Given the description of an element on the screen output the (x, y) to click on. 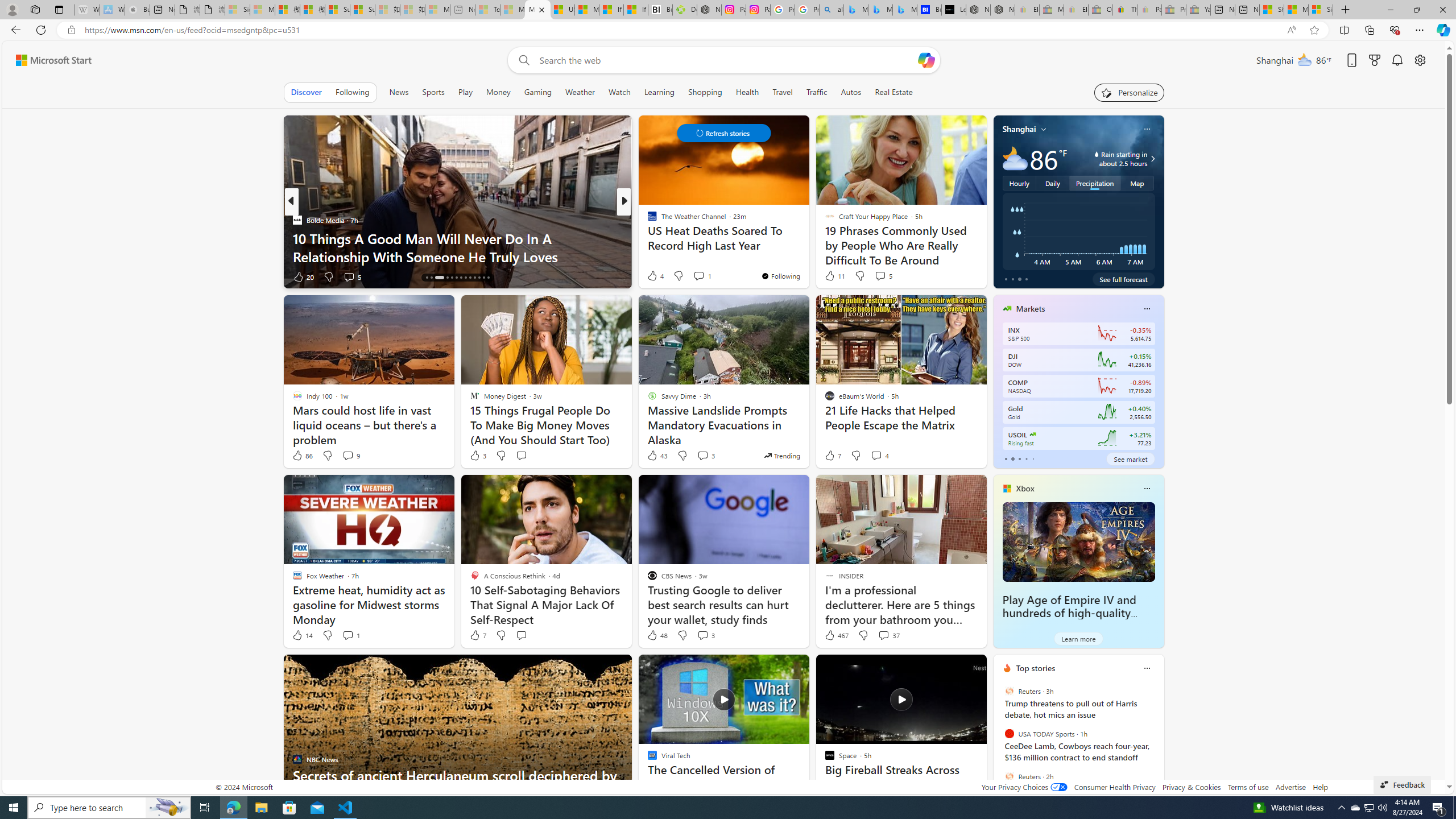
Money (497, 92)
View comments 4 Comment (879, 455)
Buy iPad - Apple - Sleeping (136, 9)
A Conscious Rethink (647, 219)
Warship sinks after crash with unknown object (807, 256)
View comments 53 Comment (703, 276)
View comments 53 Comment (707, 276)
AutomationID: tab-19 (456, 277)
Travel (782, 92)
